Given the description of an element on the screen output the (x, y) to click on. 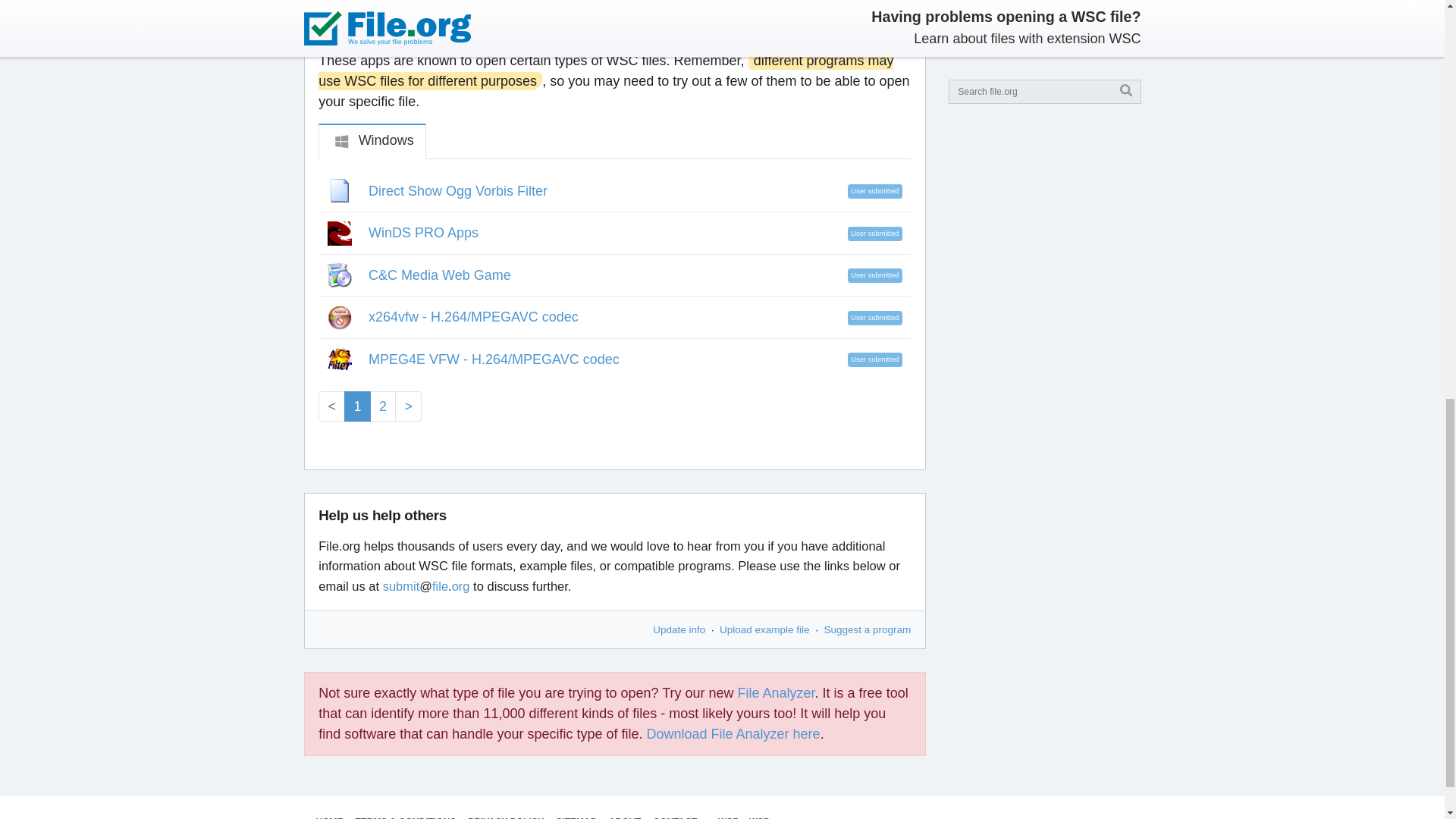
Download File Analyzer here (732, 734)
WSD (759, 817)
ABOUT (625, 817)
WinDS PRO Apps (423, 232)
File Analyzer (776, 693)
WSB (728, 817)
Click here to learn about WSB Files (728, 817)
CONTACT (674, 817)
Upload example file (764, 629)
Update info (678, 629)
